Given the description of an element on the screen output the (x, y) to click on. 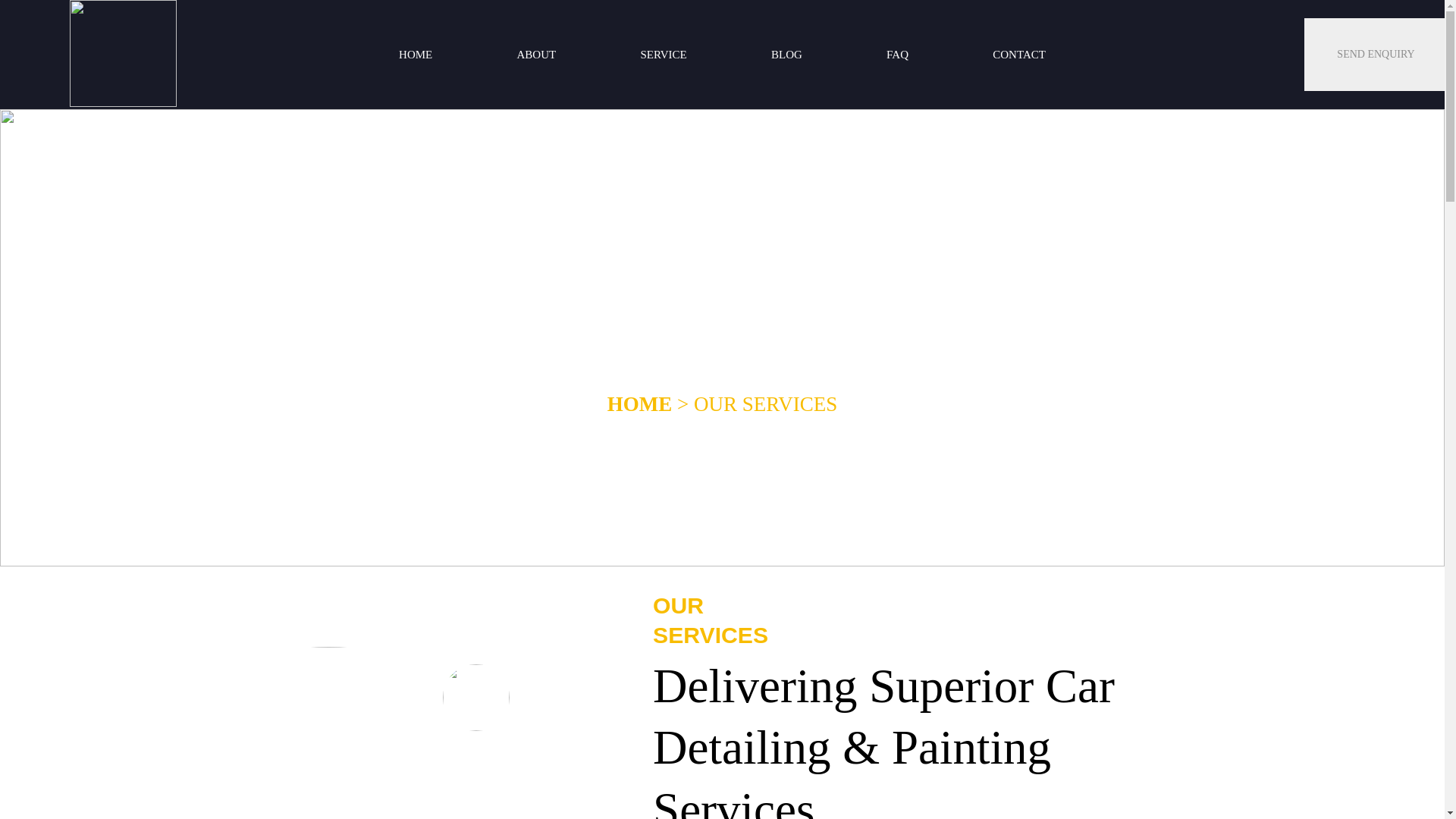
FAQ (897, 54)
BLOG (786, 54)
CONTACT (1018, 54)
ABOUT (536, 54)
HOME (414, 54)
SERVICE (663, 54)
